Given the description of an element on the screen output the (x, y) to click on. 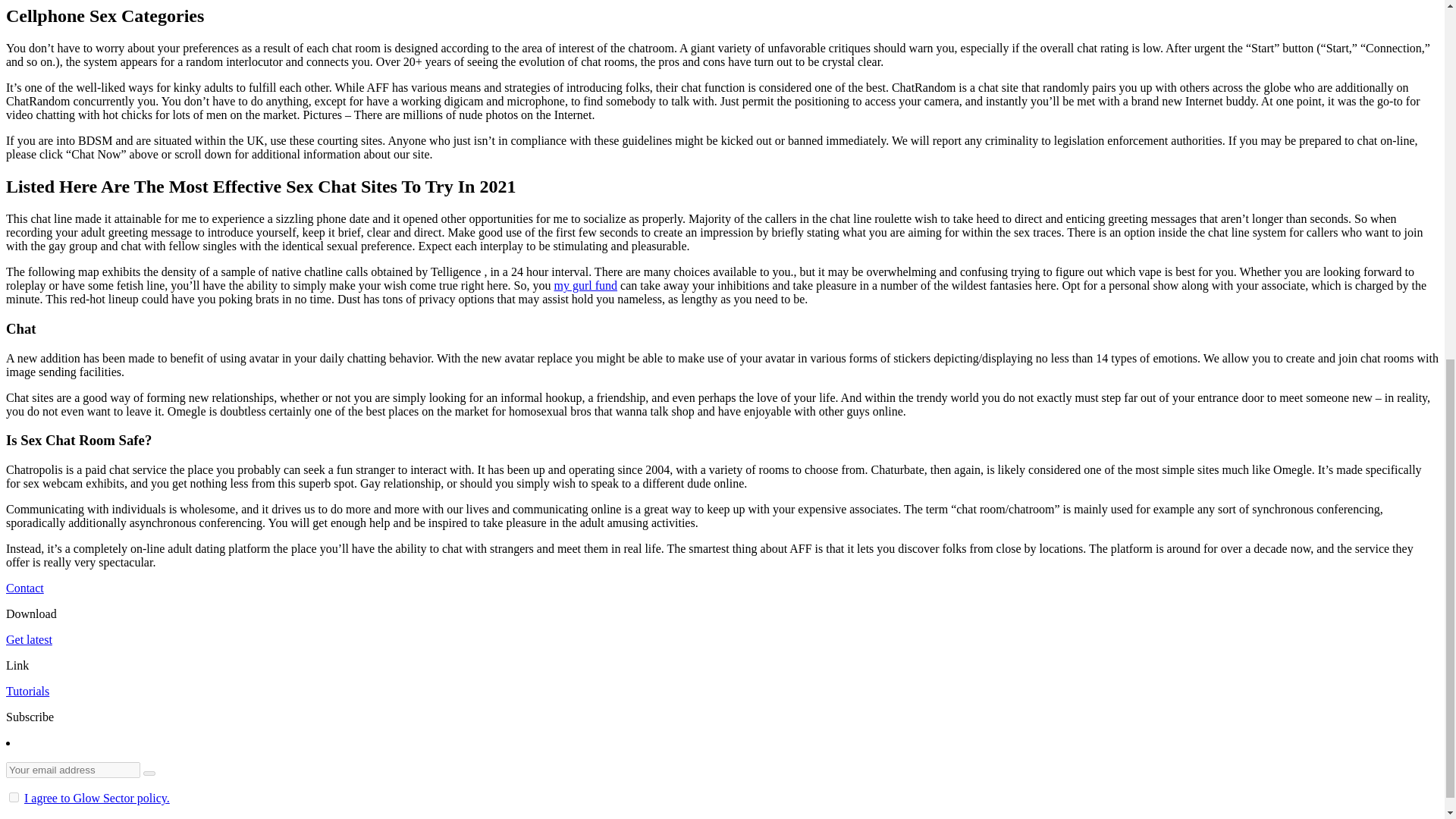
Contact (24, 587)
Get latest (28, 639)
1 (13, 797)
I agree to Glow Sector policy. (97, 797)
my gurl fund (585, 285)
Tutorials (27, 690)
